Given the description of an element on the screen output the (x, y) to click on. 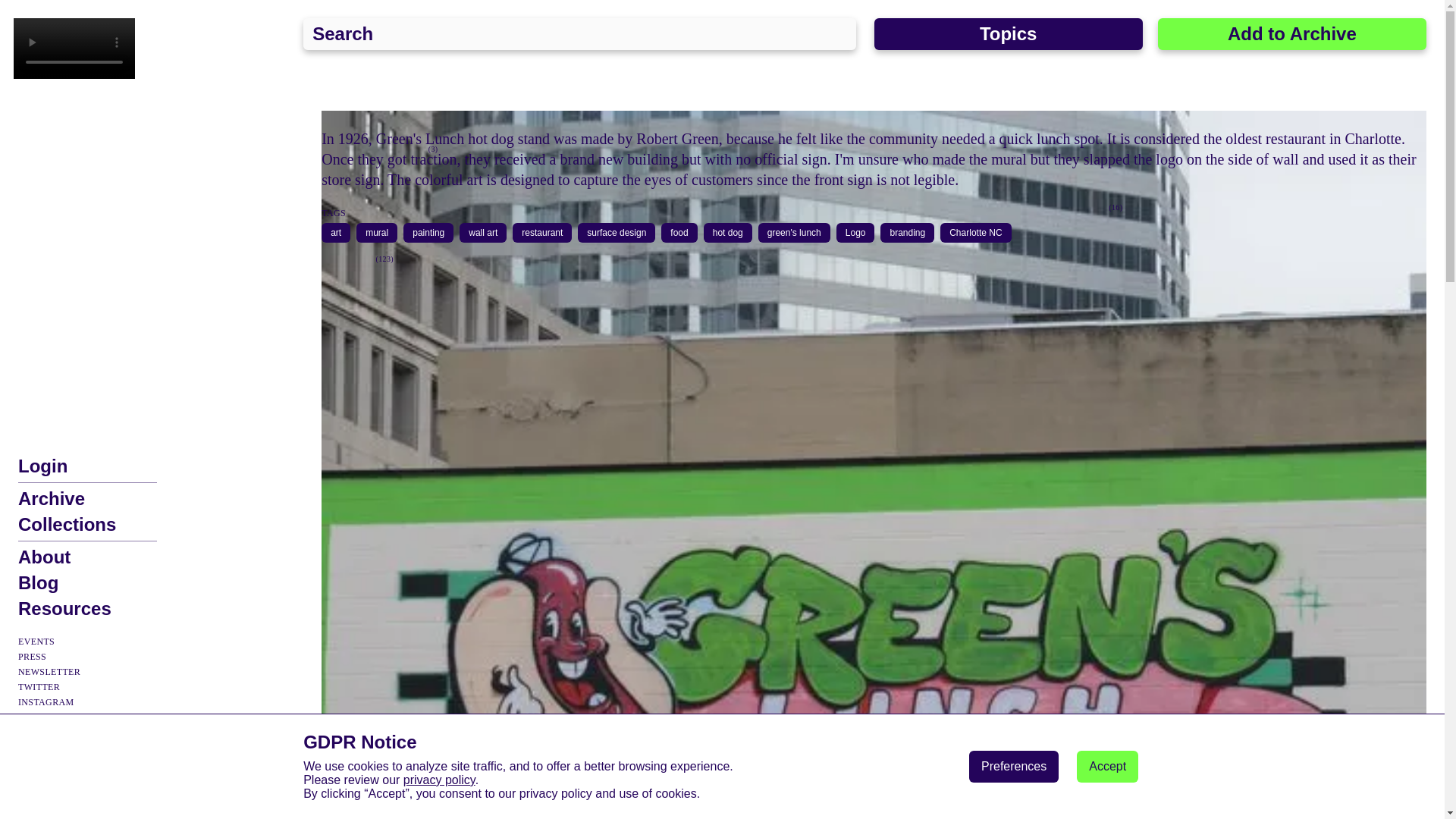
greenslunch.com (1115, 259)
hot dog (727, 232)
Collections (66, 524)
restaurant (541, 232)
Topics (1008, 33)
food (678, 232)
Add to Archive (1291, 33)
green's lunch (794, 232)
Mural (1085, 208)
Logo (855, 232)
Mary Green   (731, 222)
Blog (37, 582)
INSTAGRAM (45, 701)
TWITTER (38, 686)
NEWSLETTER (48, 671)
